Given the description of an element on the screen output the (x, y) to click on. 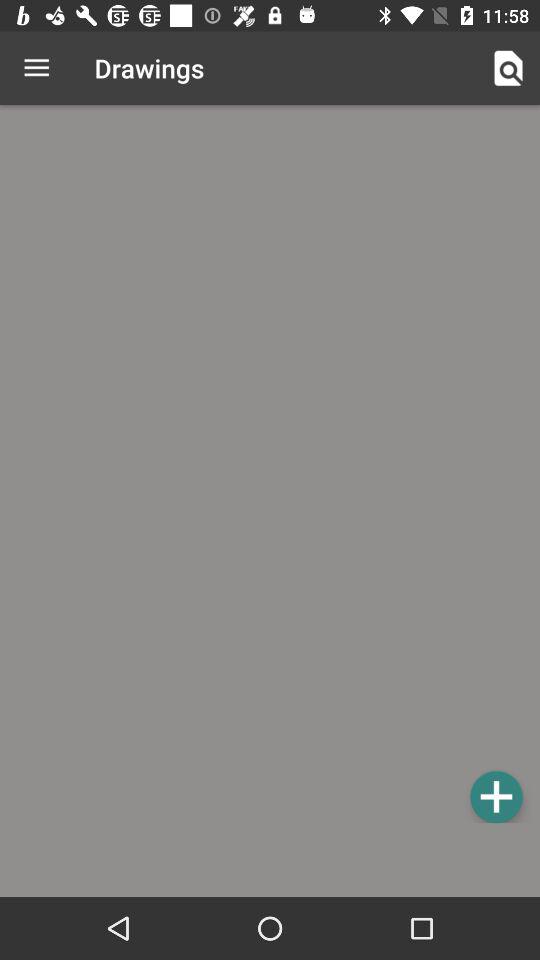
turn off item to the right of the drawings icon (508, 67)
